Given the description of an element on the screen output the (x, y) to click on. 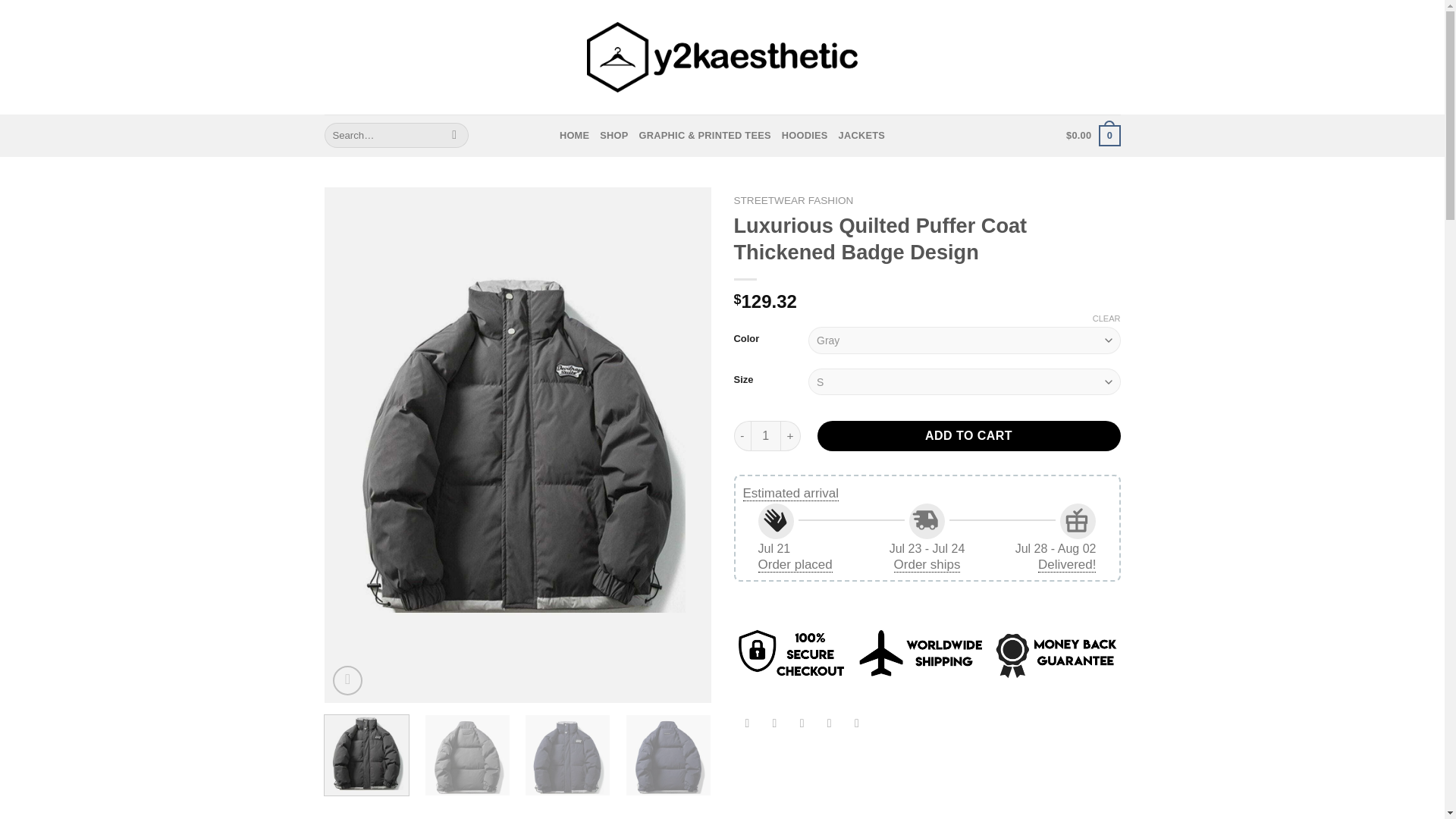
SHOP (613, 135)
HOME (574, 135)
STREETWEAR FASHION (793, 200)
HOODIES (804, 135)
1 (765, 435)
Qty (765, 435)
y2kaesthetic.com (721, 57)
CLEAR (1107, 317)
Search (454, 135)
ADD TO CART (968, 435)
JACKETS (861, 135)
Zoom (347, 680)
Cart (1092, 135)
